Given the description of an element on the screen output the (x, y) to click on. 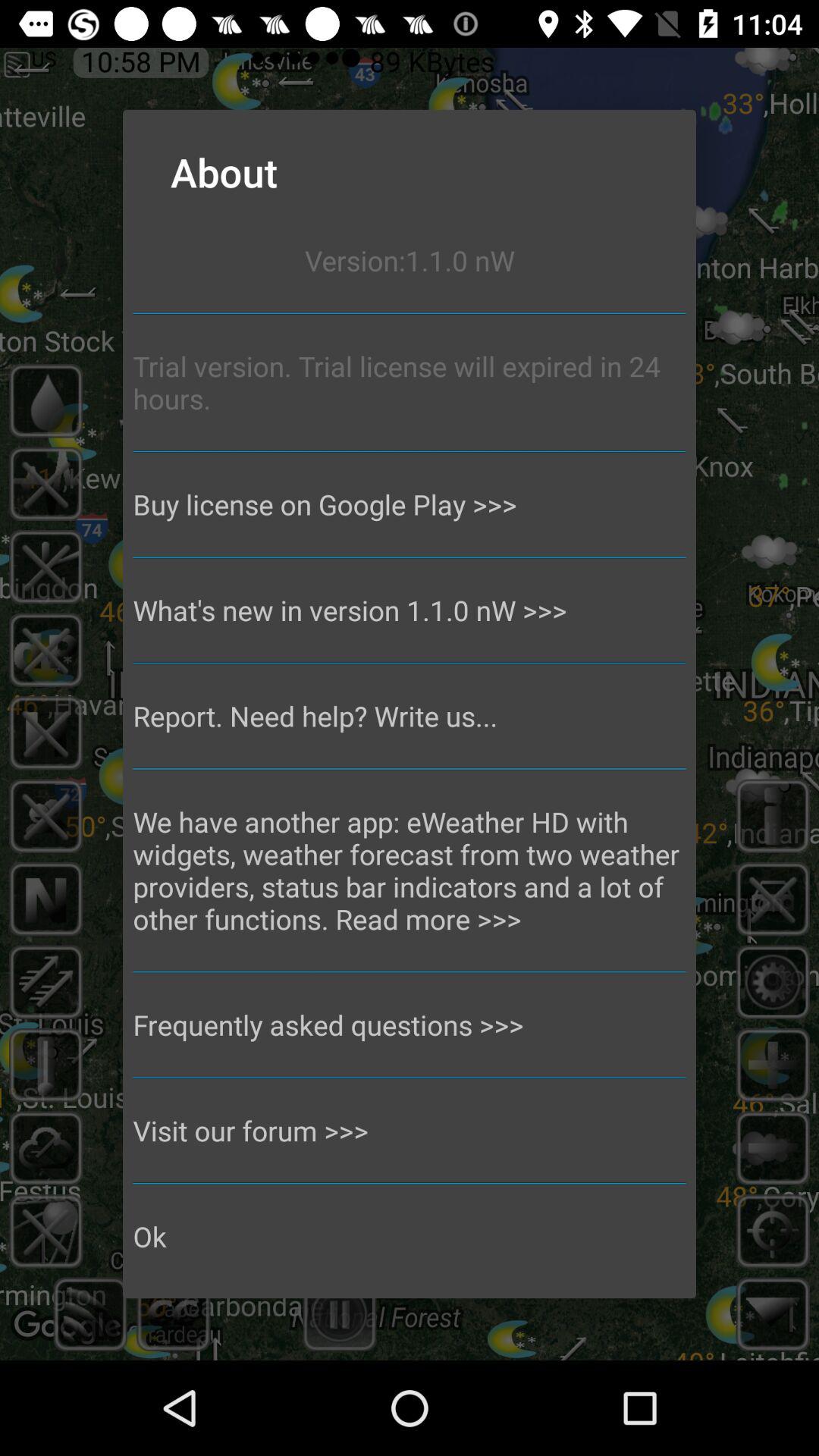
launch ok item (409, 1236)
